Given the description of an element on the screen output the (x, y) to click on. 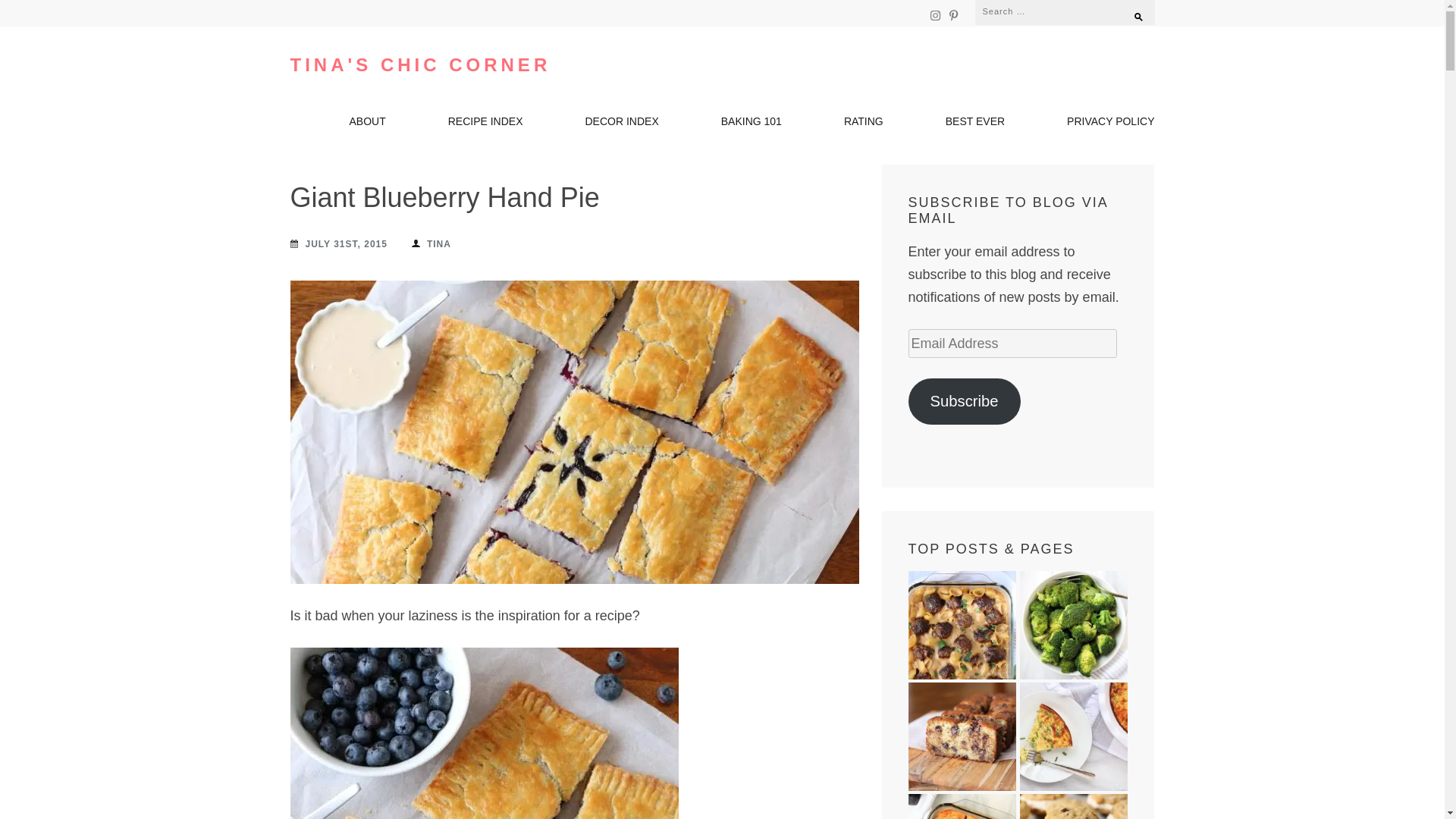
Crustless Zucchini Pie (1072, 736)
ABOUT (367, 124)
Swedish Meatball Pasta Bake (962, 624)
Chocolate Chip Cookie Whoopie Pies (1072, 806)
RECIPE INDEX (485, 124)
Search (1131, 11)
Search (1131, 11)
Chocolate Chip Banana Bread (962, 736)
Search (1131, 11)
TINA'S CHIC CORNER (419, 64)
How to Steam Broccoli Without a Steamer (1072, 624)
